Given the description of an element on the screen output the (x, y) to click on. 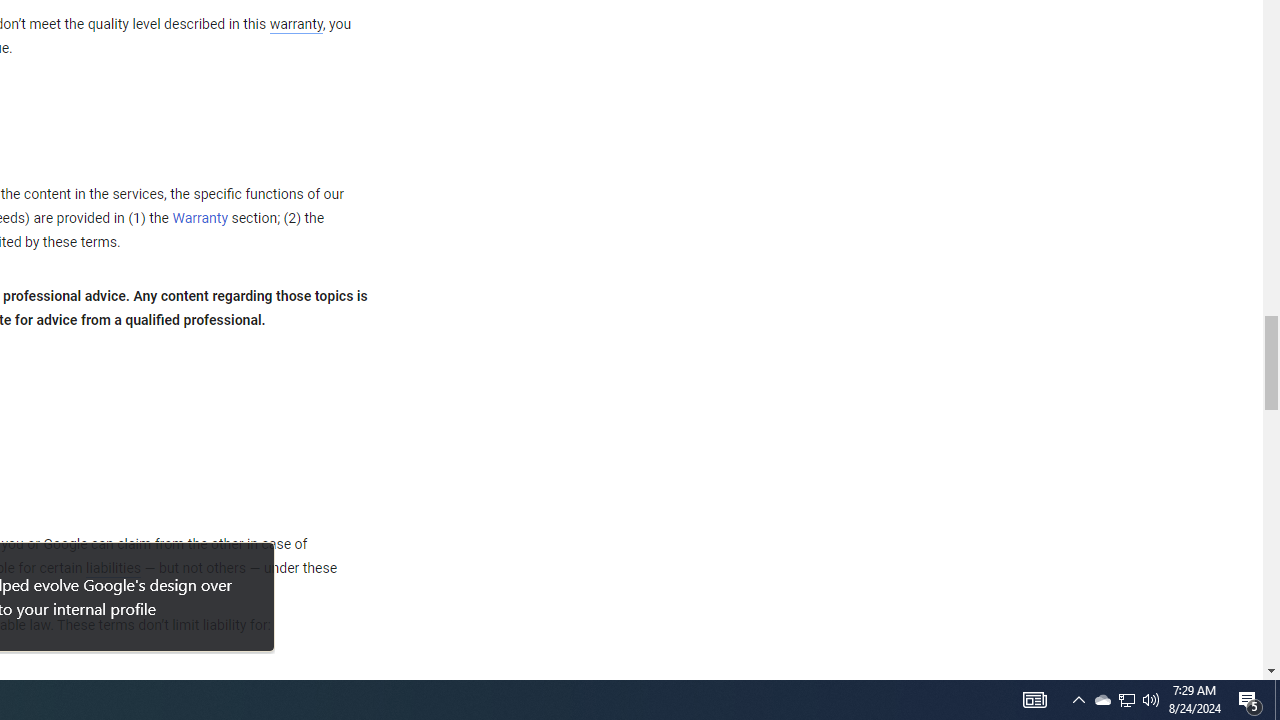
liabilities (113, 568)
warranty (295, 25)
Warranty (200, 219)
